Given the description of an element on the screen output the (x, y) to click on. 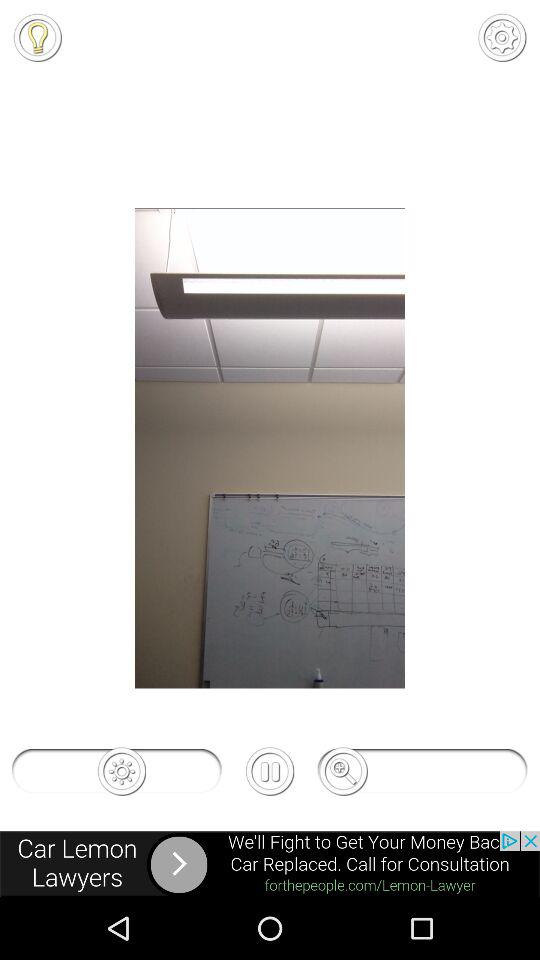
advertisement (270, 864)
